Given the description of an element on the screen output the (x, y) to click on. 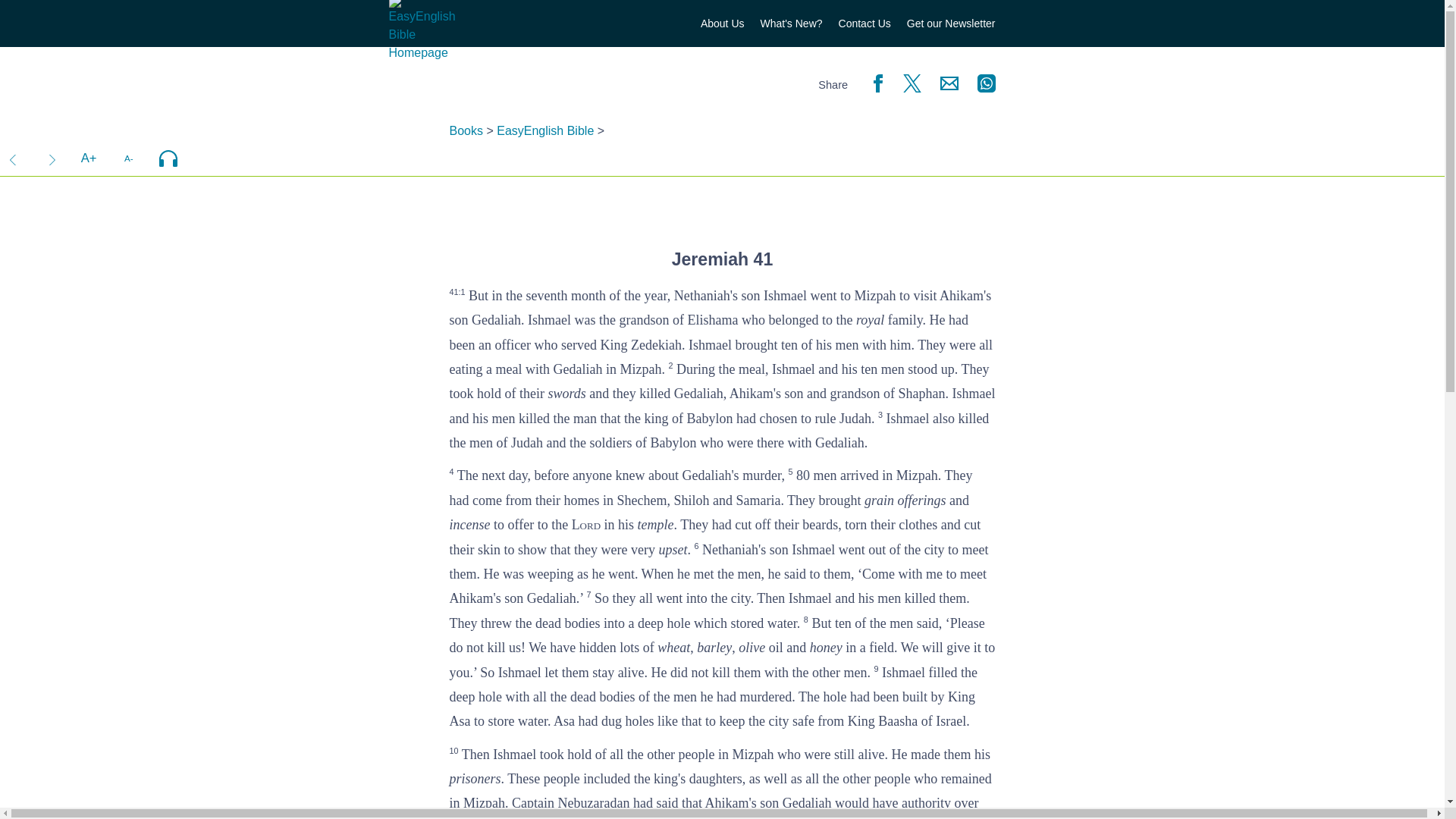
What's New? (791, 23)
EasyEnglish Bible Homepage (421, 31)
Make Text Smaller (128, 158)
Contact Us (864, 23)
Get our Newsletter (951, 23)
Books (464, 130)
A- (128, 158)
Jeremiah 42 (51, 158)
EasyEnglish Bible Homepage (421, 51)
Listen (167, 158)
